Given the description of an element on the screen output the (x, y) to click on. 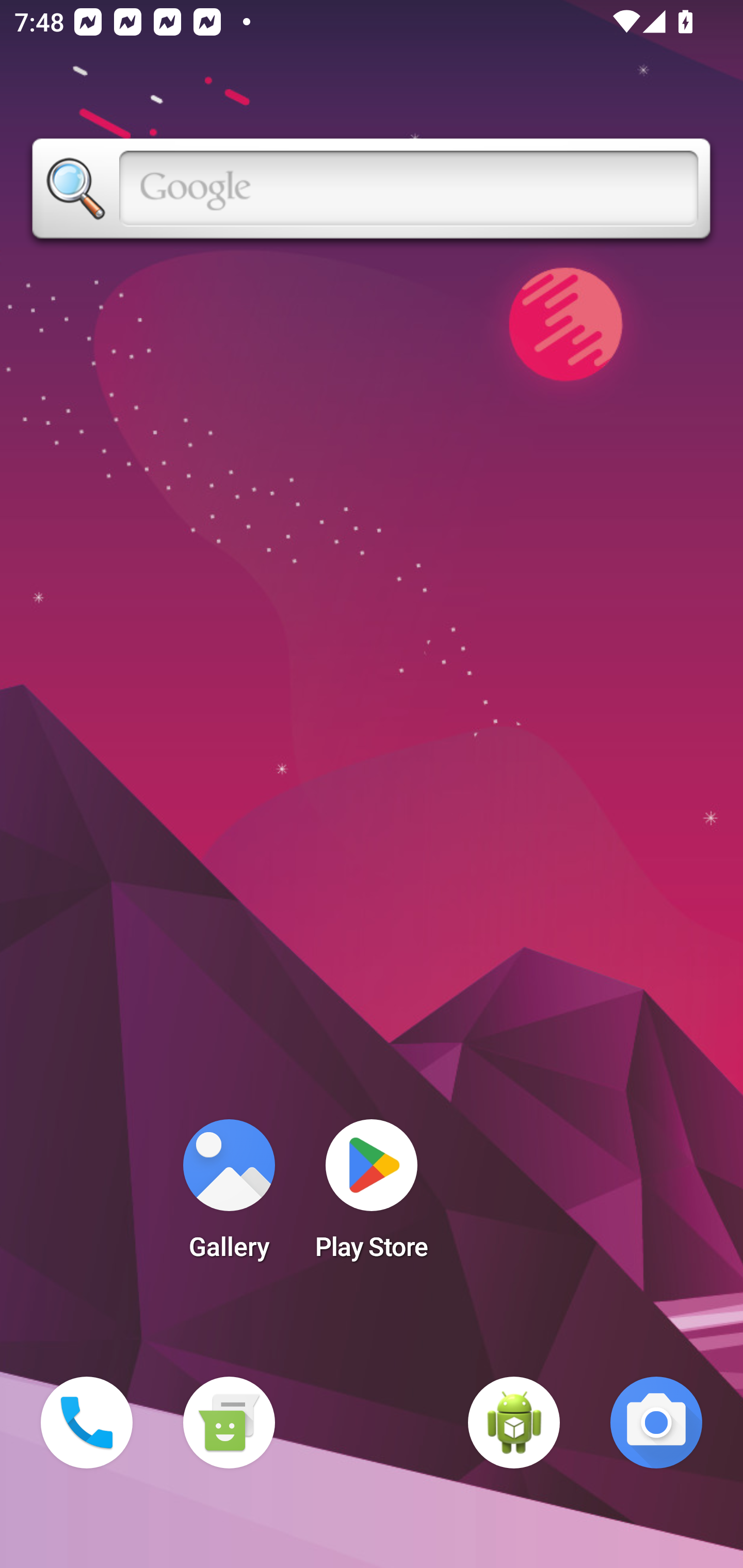
Gallery (228, 1195)
Play Store (371, 1195)
Phone (86, 1422)
Messaging (228, 1422)
WebView Browser Tester (513, 1422)
Camera (656, 1422)
